Given the description of an element on the screen output the (x, y) to click on. 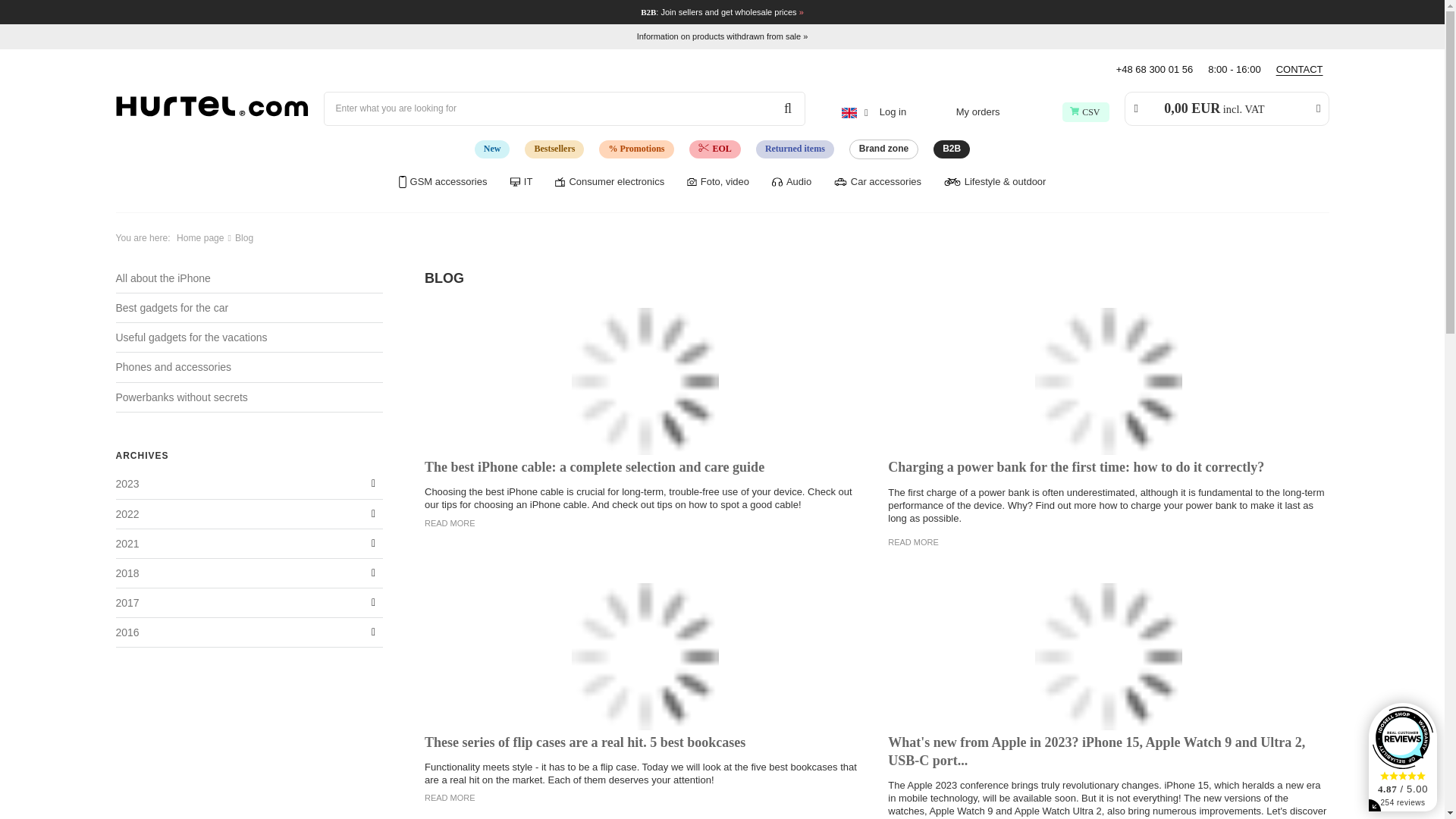
EOL (714, 149)
Returned items (794, 149)
New (492, 149)
Brand zone (883, 148)
B2B (951, 149)
Promotions (635, 149)
Bestsellers (553, 149)
GSM accessories (443, 180)
CONTACT (1300, 69)
